Given the description of an element on the screen output the (x, y) to click on. 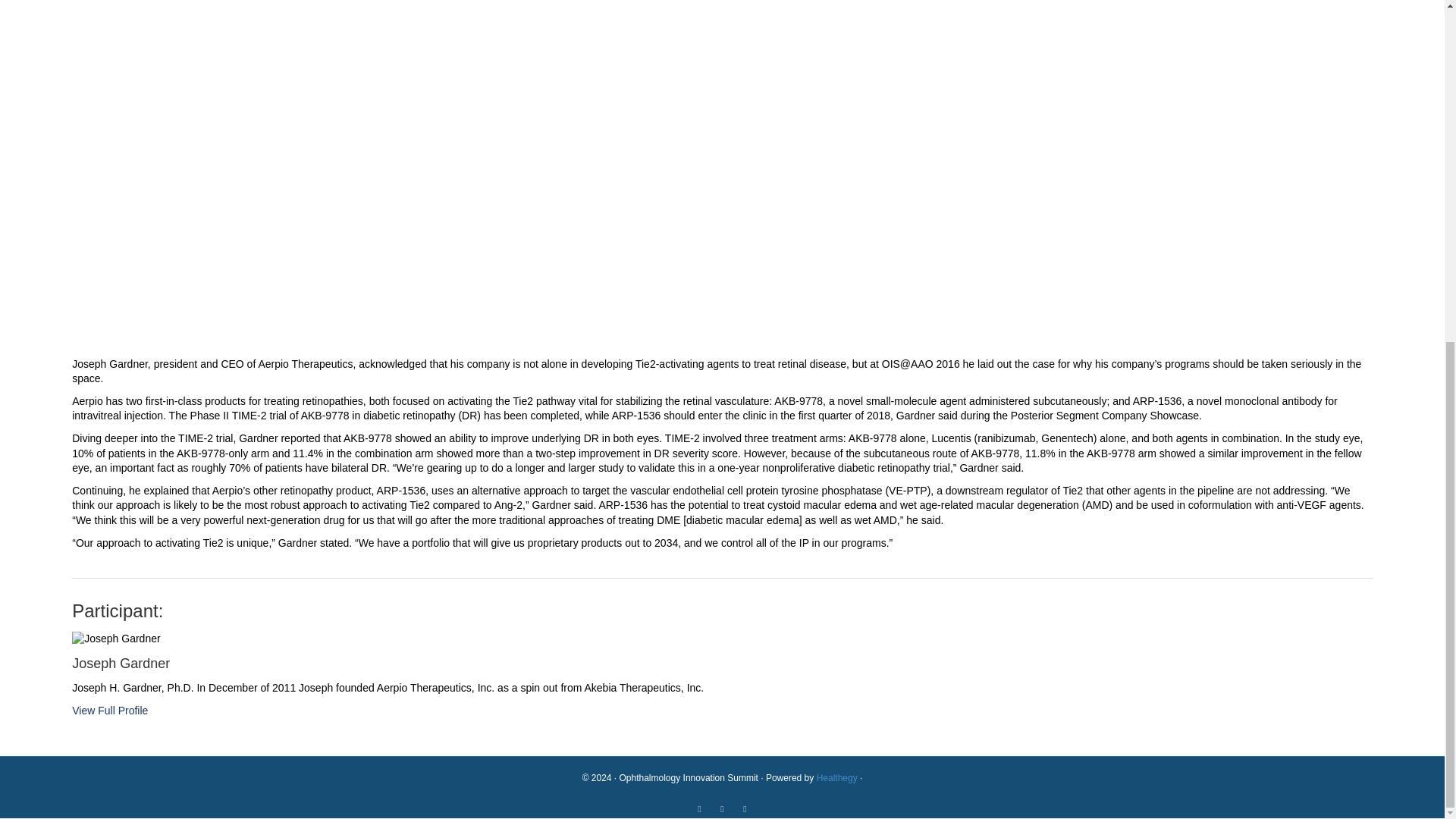
X-twitter (745, 809)
Youtube (722, 809)
View Full Profile (109, 710)
Linkedin (699, 809)
Healthegy (836, 777)
